Given the description of an element on the screen output the (x, y) to click on. 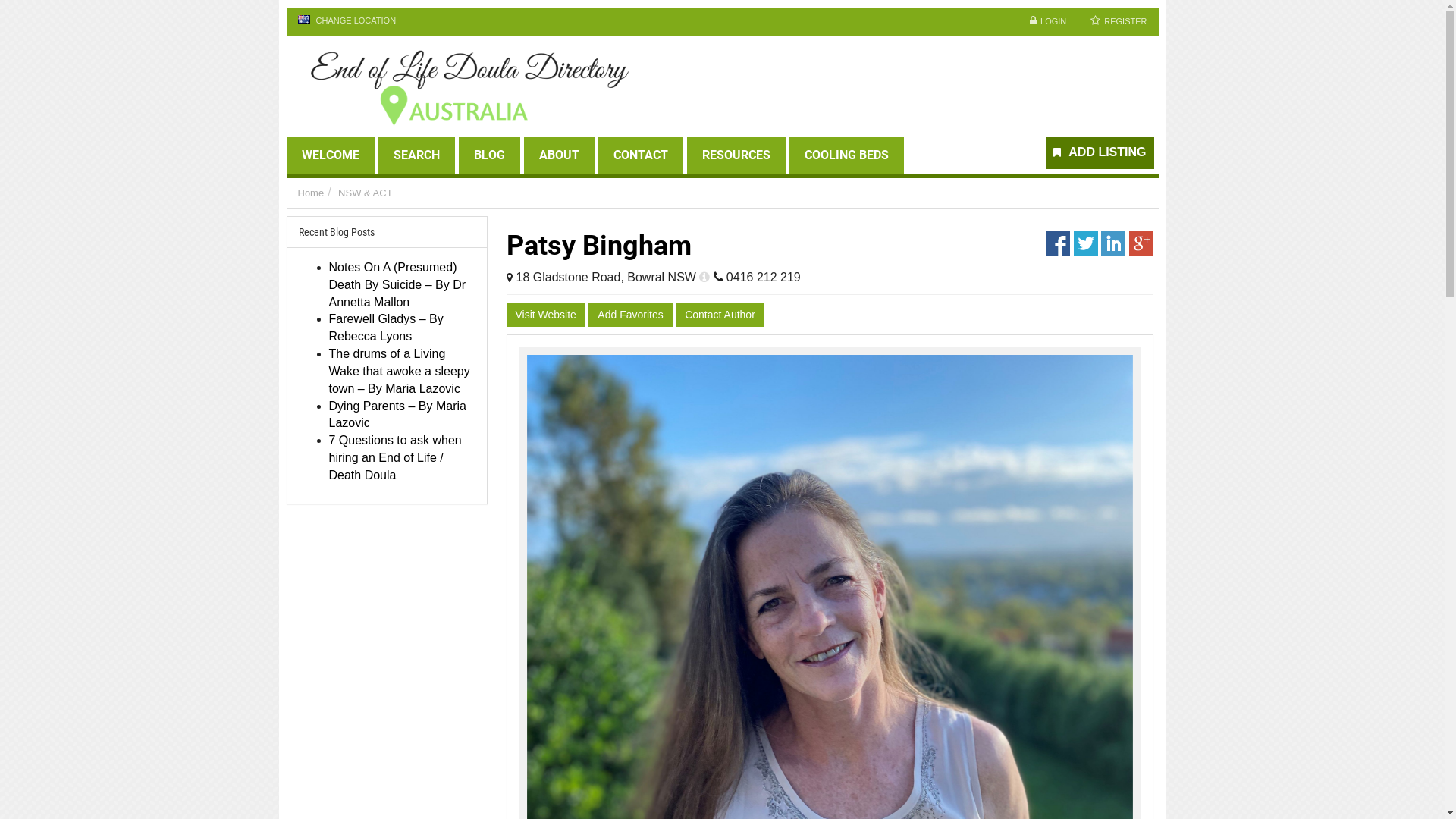
ABOUT Element type: text (558, 155)
Add Favorites Element type: text (629, 314)
REGISTER Element type: text (1118, 21)
SEARCH Element type: text (415, 155)
CHANGE LOCATION Element type: text (346, 20)
CONTACT Element type: text (639, 155)
BLOG Element type: text (488, 155)
WELCOME Element type: text (330, 155)
Home Element type: text (310, 192)
NSW & ACT Element type: text (365, 192)
Patsy Bingham Element type: text (598, 245)
Contact Author Element type: text (719, 314)
LOGIN Element type: text (1047, 21)
ADD LISTING Element type: text (1101, 152)
COOLING BEDS Element type: text (845, 155)
Visit Website Element type: text (545, 314)
RESOURCES Element type: text (736, 155)
7 Questions to ask when hiring an End of Life / Death Doula Element type: text (395, 457)
End of Life Doula Directory Element type: hover (467, 85)
